Given the description of an element on the screen output the (x, y) to click on. 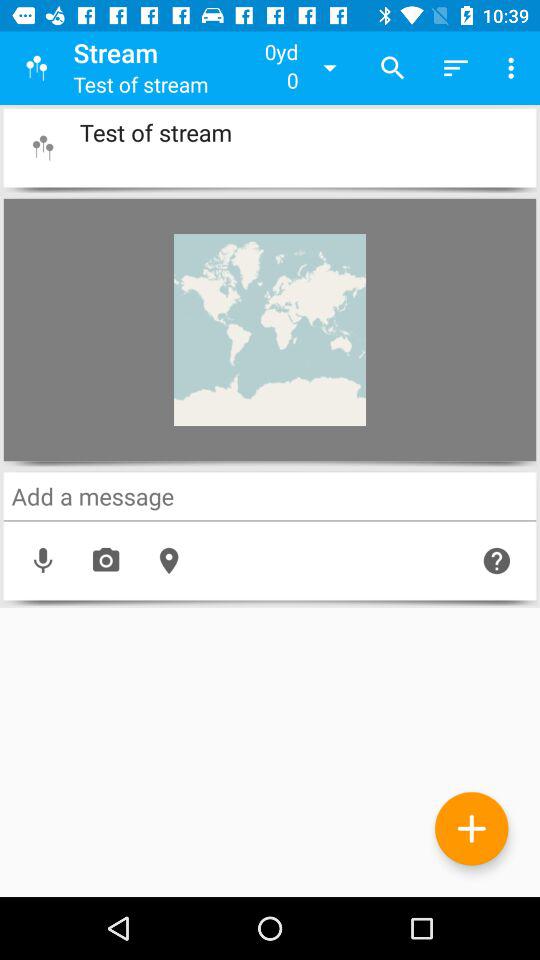
add a message here (269, 496)
